Given the description of an element on the screen output the (x, y) to click on. 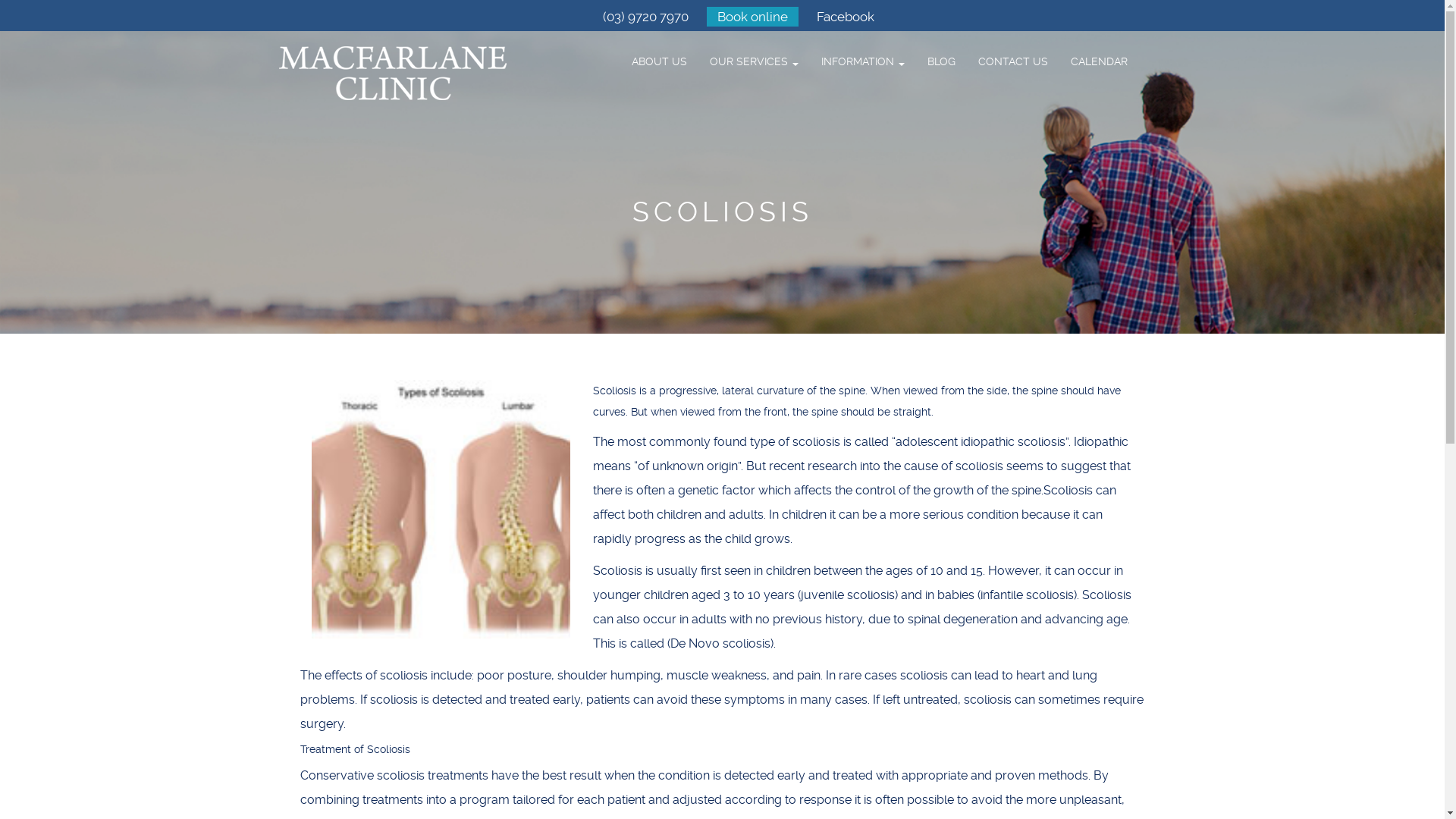
CALENDAR Element type: text (1098, 61)
Facebook Element type: text (845, 16)
INFORMATION Element type: text (862, 61)
ABOUT US Element type: text (659, 61)
CONTACT US Element type: text (1012, 61)
OUR SERVICES Element type: text (753, 61)
<i class="fas fa-home"></i> Element type: hover (608, 53)
(03) 9720 7970 Element type: text (645, 16)
BLOG Element type: text (941, 61)
Book online Element type: text (752, 16)
